Given the description of an element on the screen output the (x, y) to click on. 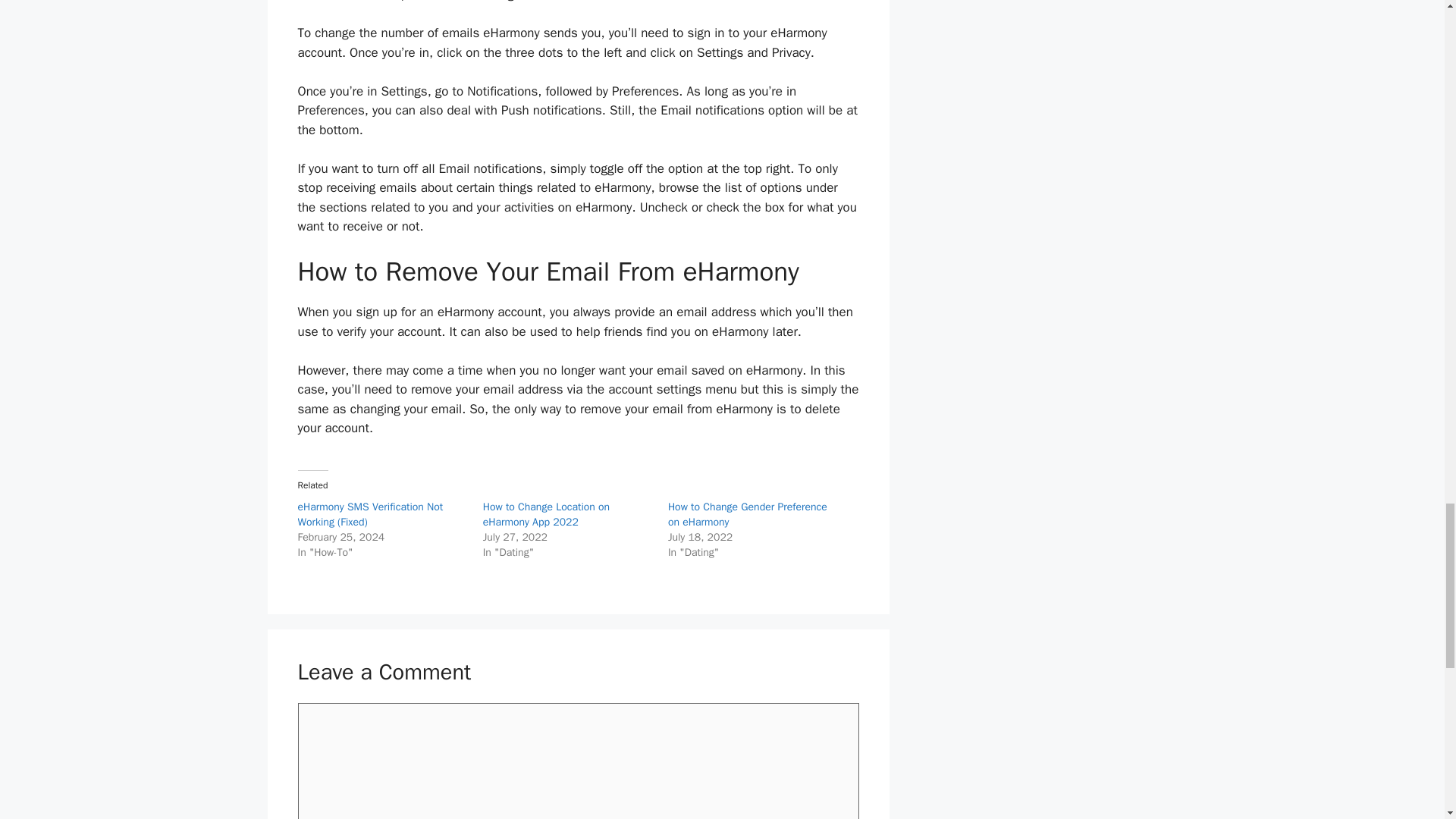
How to Change Location on eHarmony App 2022 (546, 514)
How to Change Location on eHarmony App 2022 (546, 514)
How to Change Gender Preference on eHarmony (747, 514)
How to Change Gender Preference on eHarmony (747, 514)
